Given the description of an element on the screen output the (x, y) to click on. 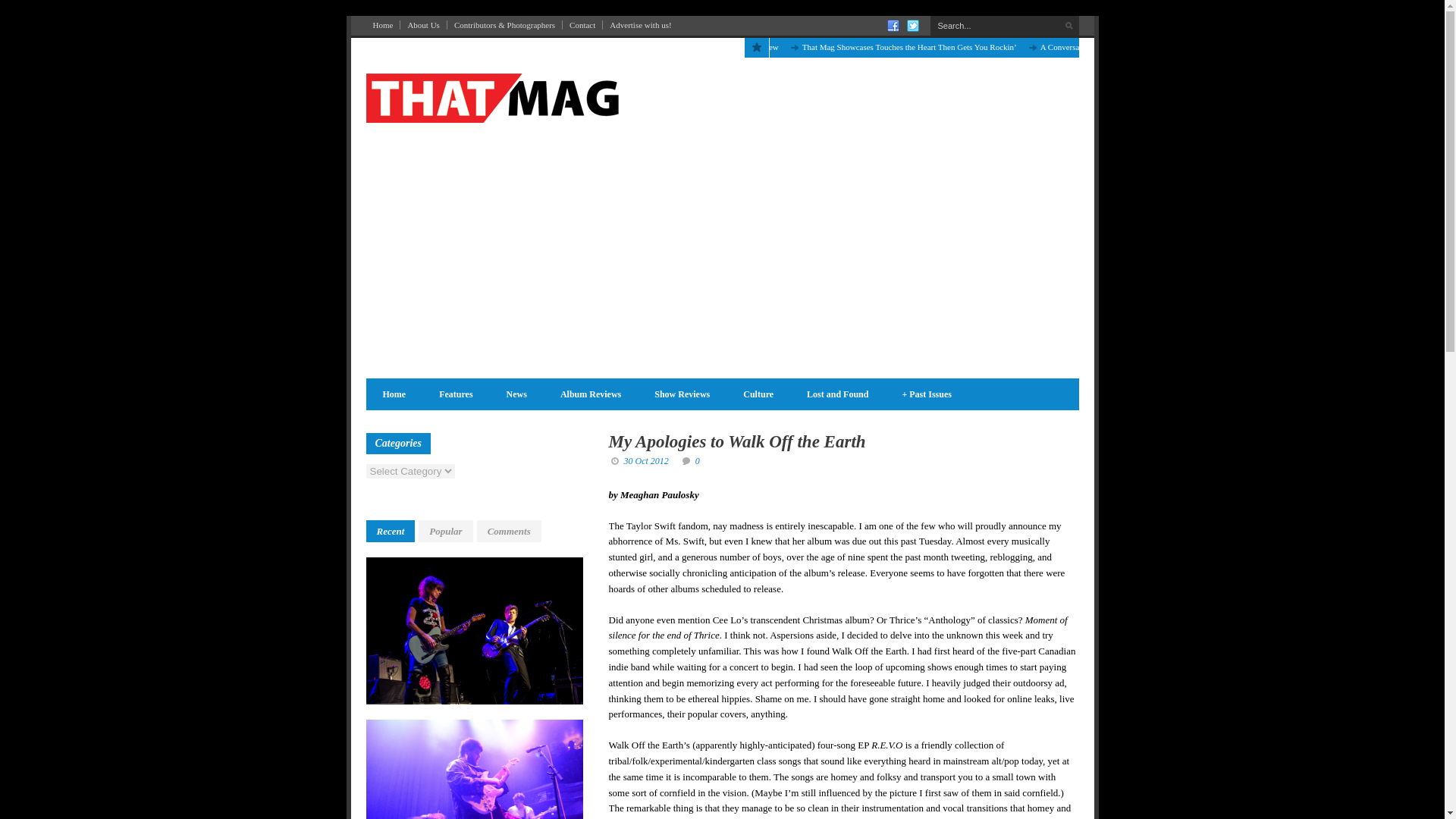
Contact (582, 24)
Culture (758, 393)
Lost and Found (837, 393)
Album Reviews (590, 393)
Features (455, 393)
My Apologies to Walk Off the Earth (736, 441)
Popular (445, 531)
Rebel Girl Review (746, 46)
30 Oct 2012 (645, 460)
Home (393, 393)
